Given the description of an element on the screen output the (x, y) to click on. 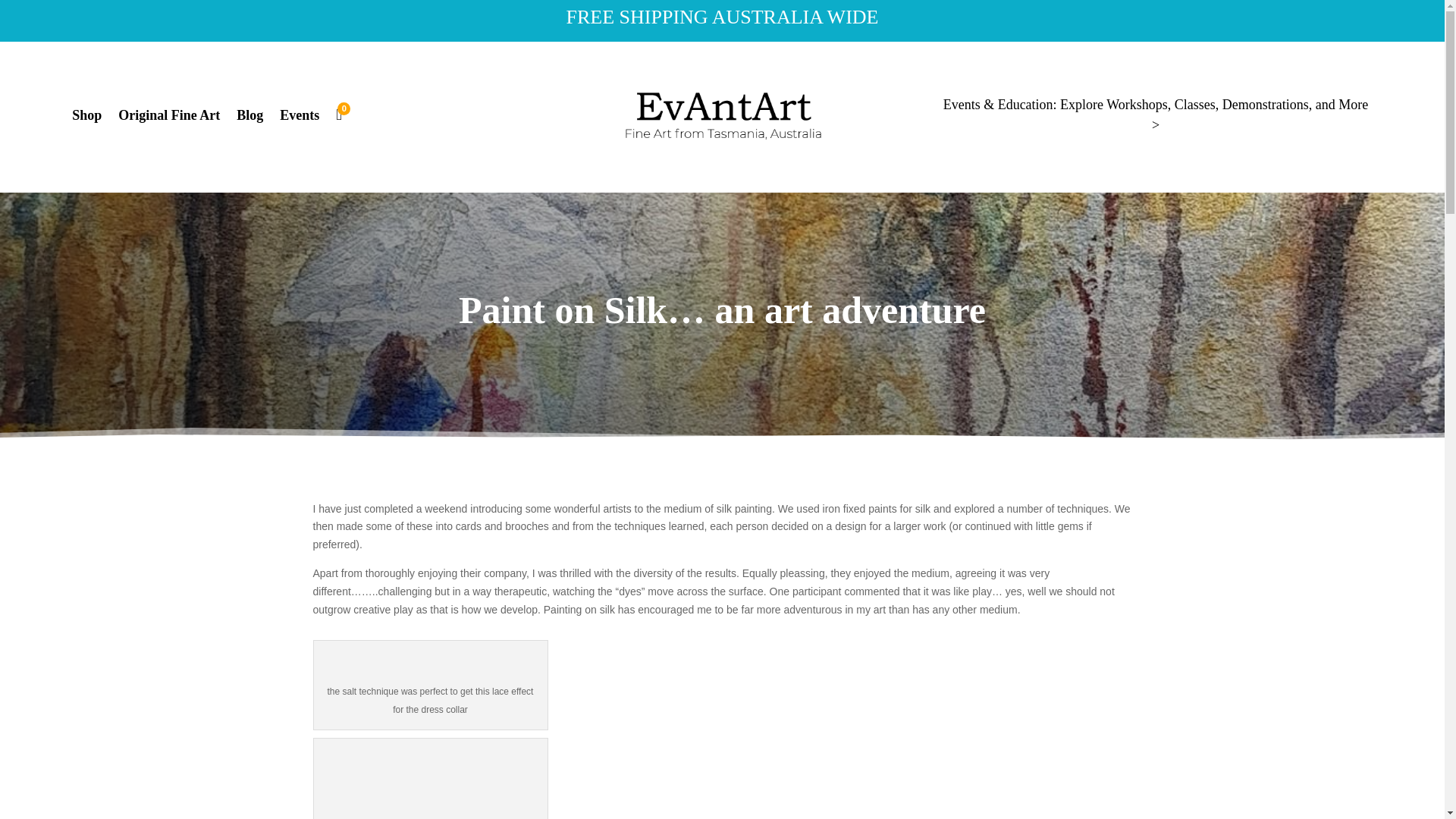
Evantart-Logo-sml (722, 115)
Original Fine Art (168, 117)
Events (298, 117)
Shop (86, 117)
Blog (249, 117)
